Given the description of an element on the screen output the (x, y) to click on. 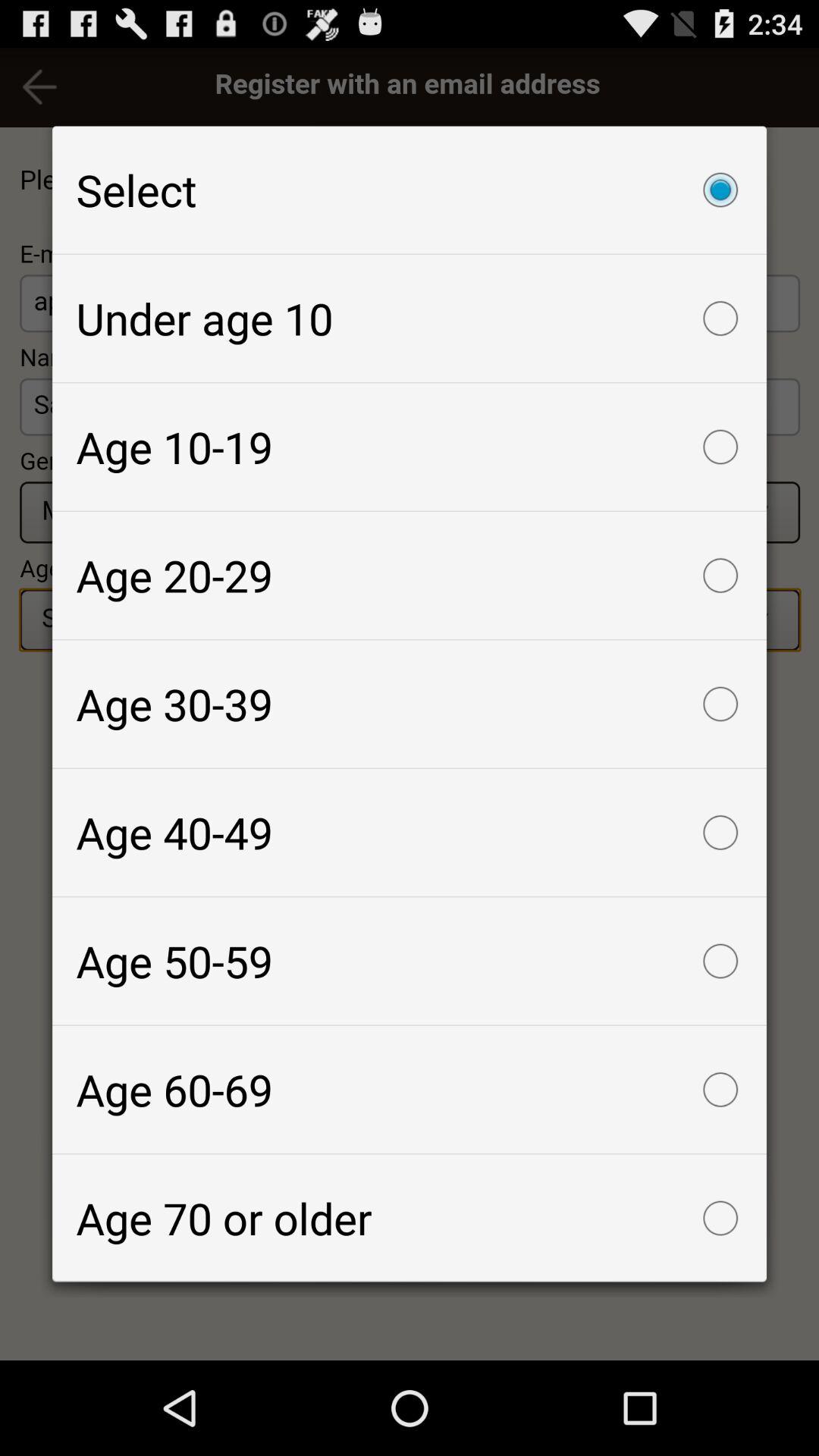
flip until age 60-69 item (409, 1089)
